Given the description of an element on the screen output the (x, y) to click on. 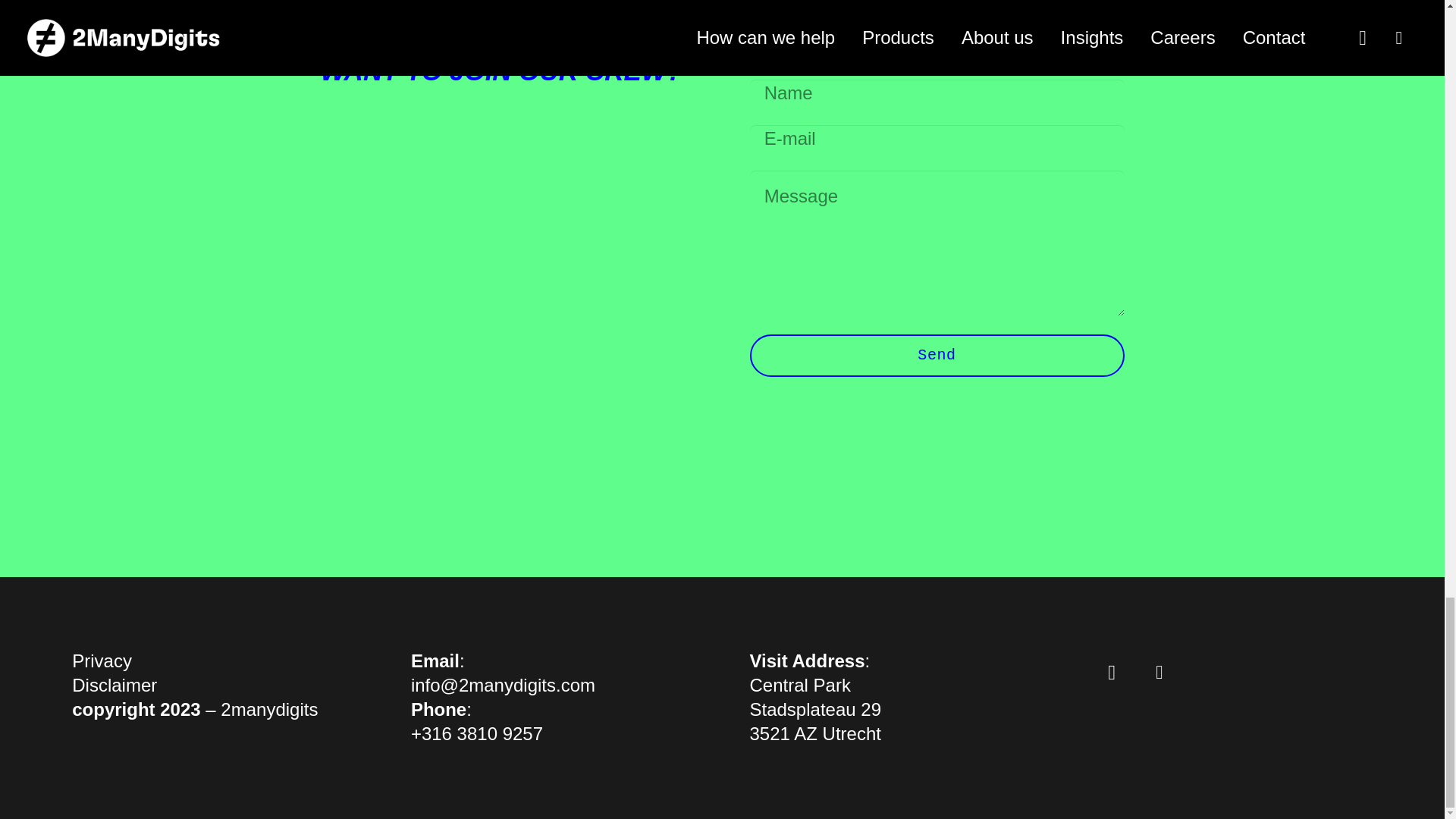
Disclaimer (114, 684)
Privacy (101, 660)
Send (936, 355)
LinkedIn (1159, 672)
Instagram (1111, 672)
